Given the description of an element on the screen output the (x, y) to click on. 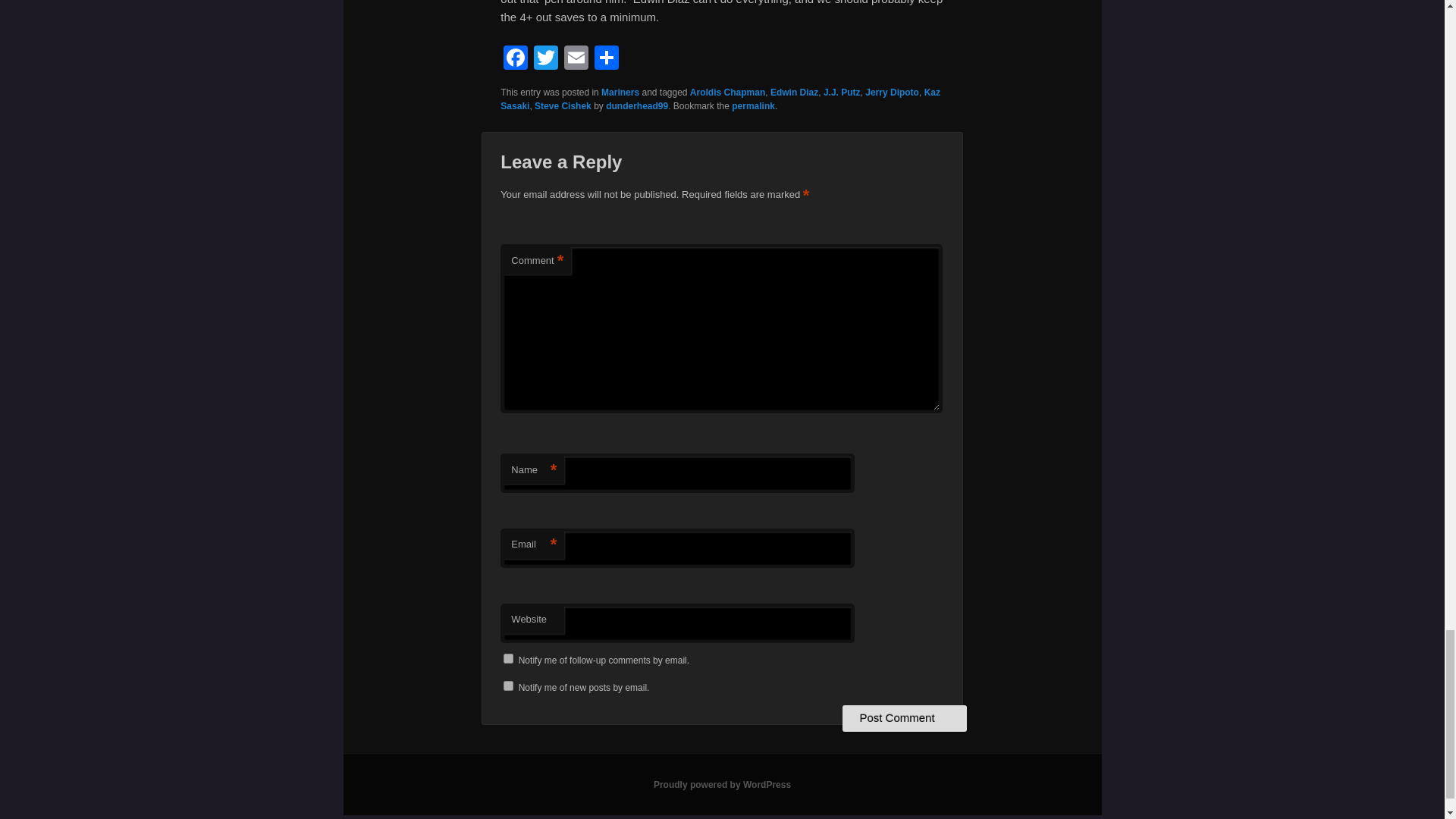
Facebook (515, 59)
Twitter (545, 59)
Semantic Personal Publishing Platform (721, 784)
Email (575, 59)
Permalink to Is Edwin Diaz The Closer Of The Future? (753, 105)
subscribe (508, 658)
subscribe (508, 685)
Post Comment (904, 718)
